Given the description of an element on the screen output the (x, y) to click on. 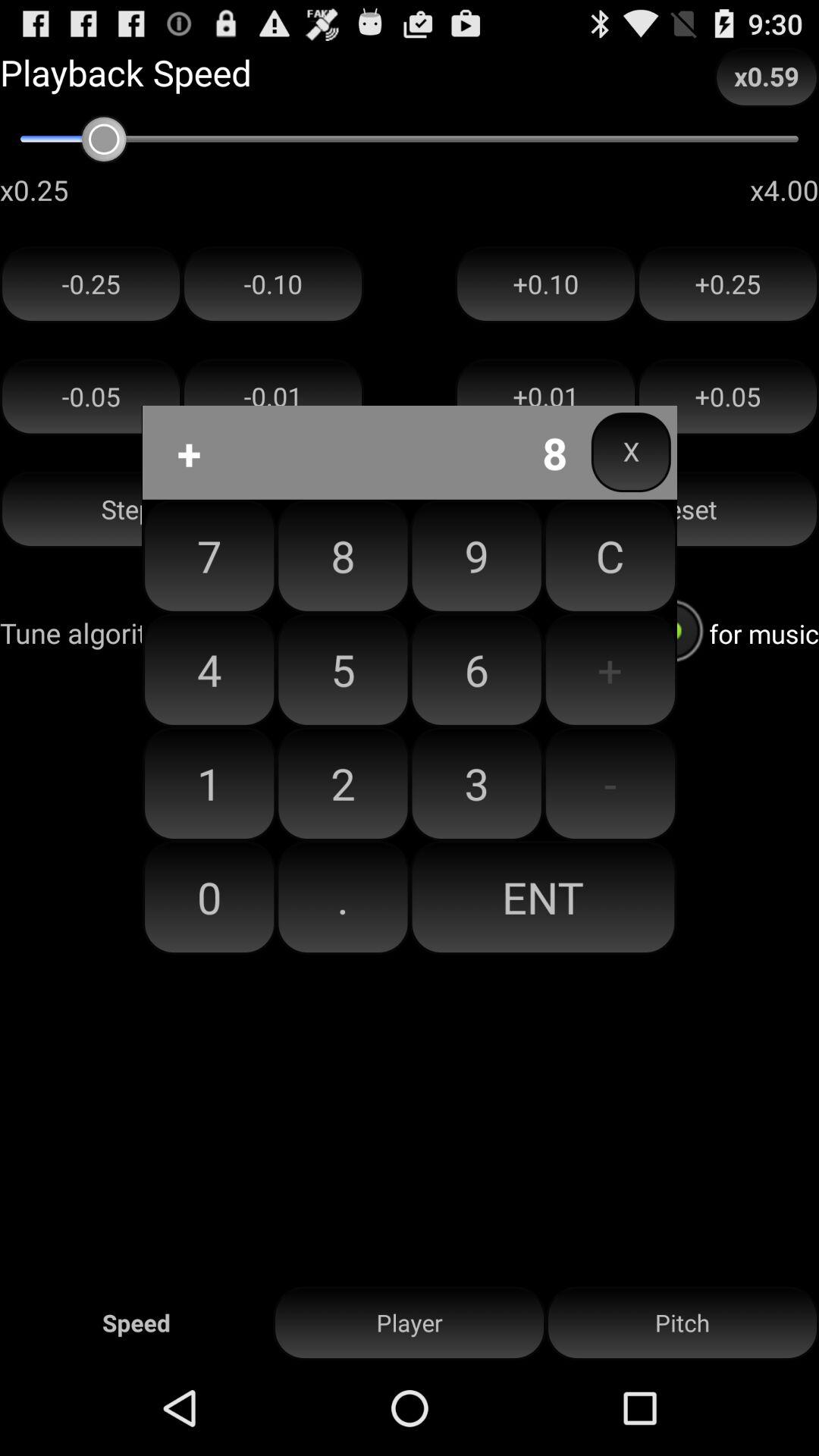
launch icon next to 9 item (609, 556)
